Given the description of an element on the screen output the (x, y) to click on. 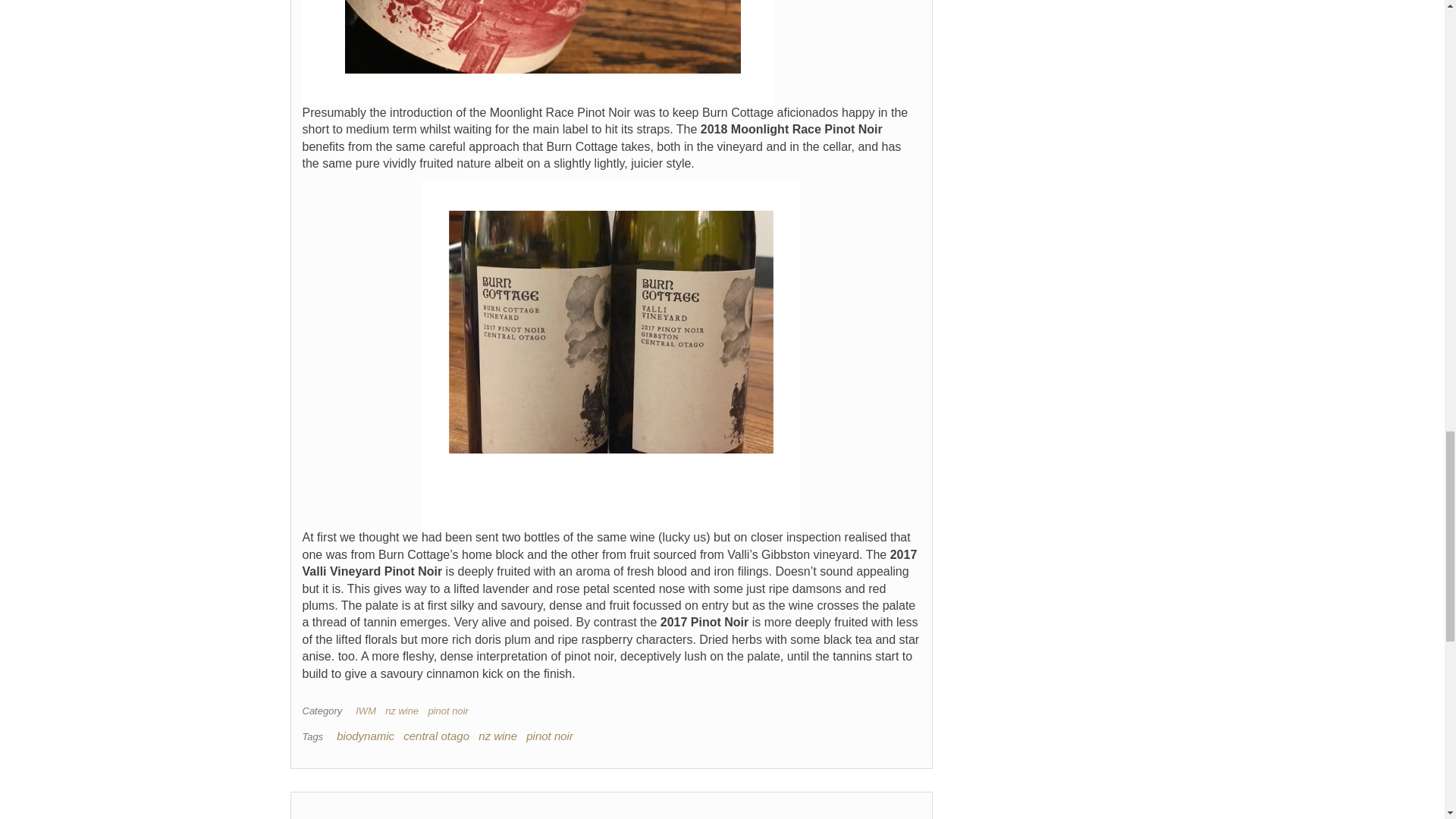
pinot noir (451, 710)
biodynamic (365, 735)
IWM (368, 710)
nz wine (497, 735)
pinot noir (549, 735)
central otago (435, 735)
nz wine (405, 710)
